Given the description of an element on the screen output the (x, y) to click on. 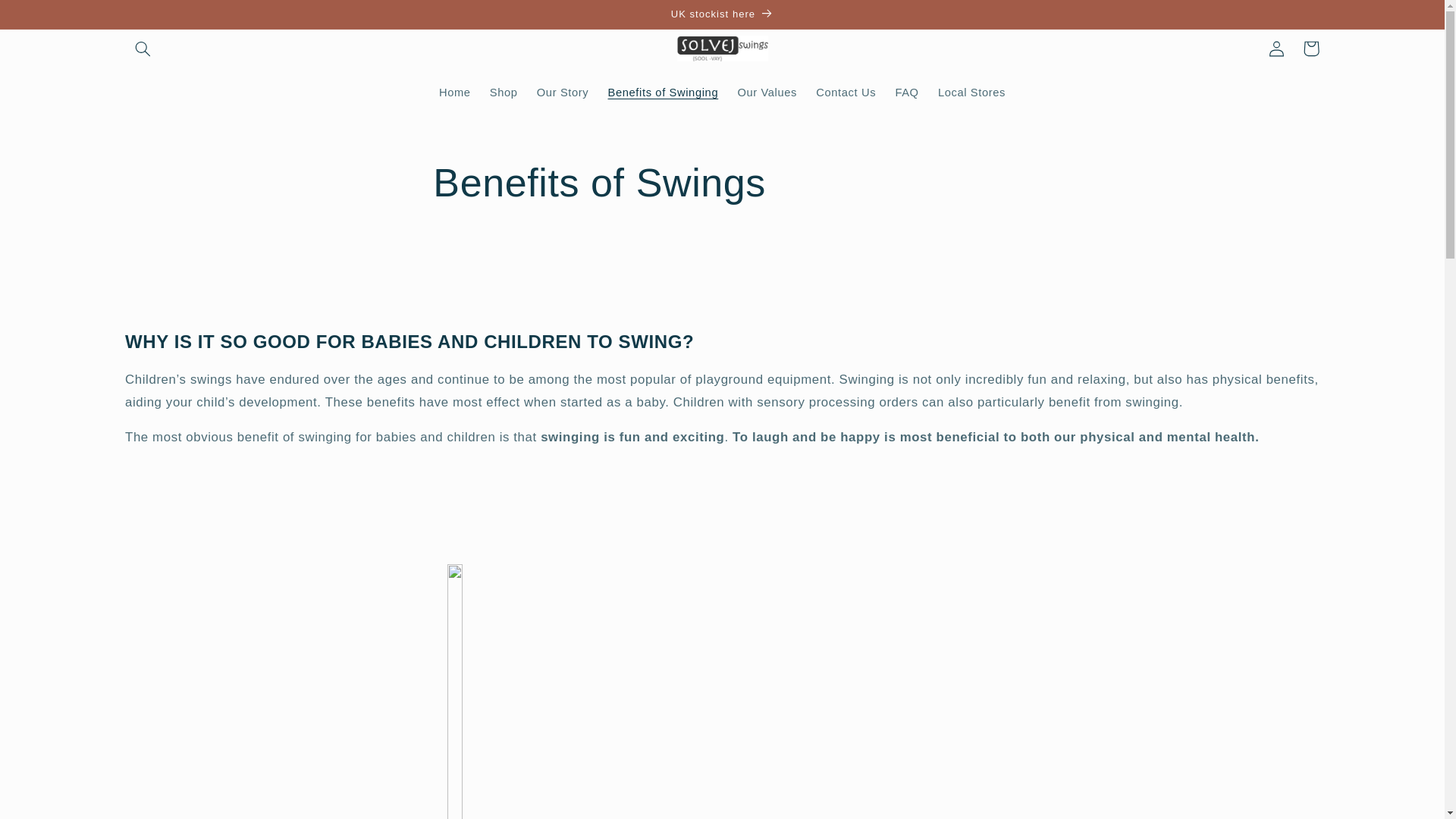
Shop (503, 92)
Cart (1310, 48)
Skip to content (48, 18)
Local Stores (971, 92)
Log in (1276, 48)
Contact Us (845, 92)
Benefits of Swinging (663, 92)
Our Values (767, 92)
Our Story (562, 92)
FAQ (906, 92)
